Given the description of an element on the screen output the (x, y) to click on. 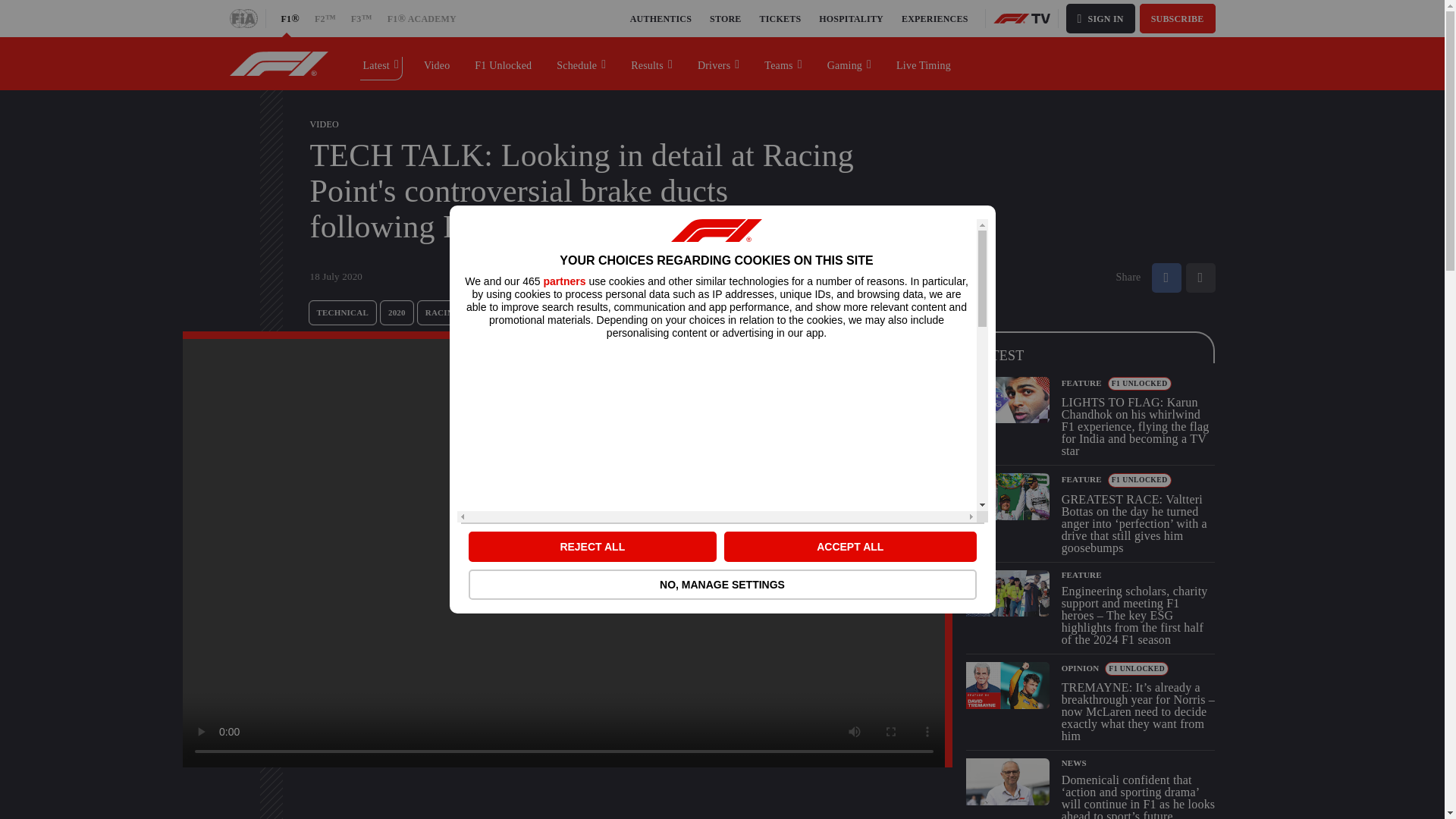
Drivers (718, 63)
Teams (782, 63)
Schedule (581, 63)
Results (651, 63)
SIGN IN (1100, 18)
Live Timing (923, 63)
STORE (725, 18)
Gaming (849, 63)
AUTHENTICS (660, 18)
HOSPITALITY (850, 18)
